Given the description of an element on the screen output the (x, y) to click on. 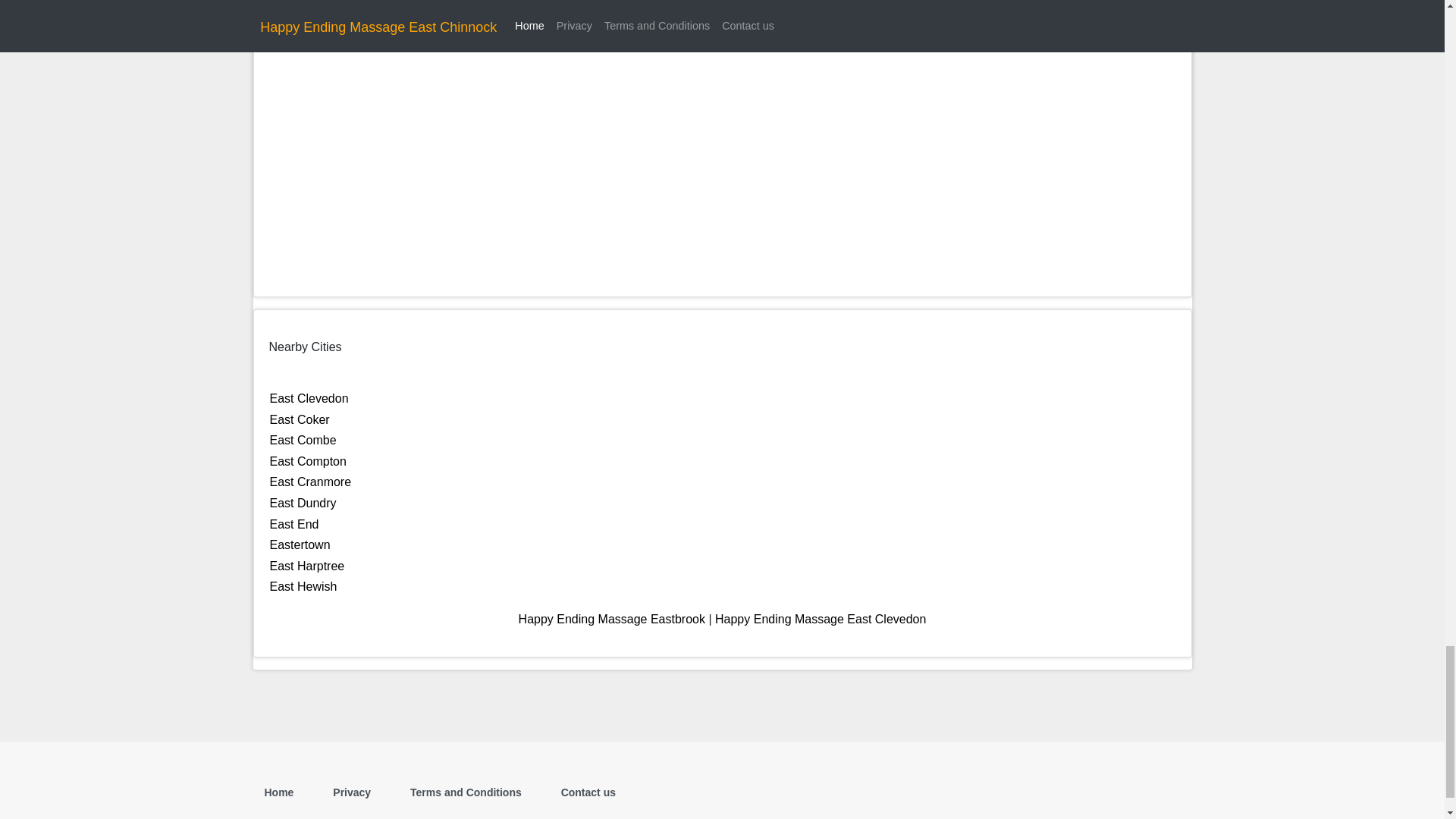
East Harptree (307, 565)
East Hewish (303, 585)
East Cranmore (310, 481)
East Coker (299, 419)
East Compton (307, 461)
Happy Ending Massage East Clevedon (820, 618)
Eastertown (299, 544)
East Combe (302, 440)
East End (293, 523)
East Dundry (302, 502)
Happy Ending Massage Eastbrook (611, 618)
East Clevedon (309, 398)
